Given the description of an element on the screen output the (x, y) to click on. 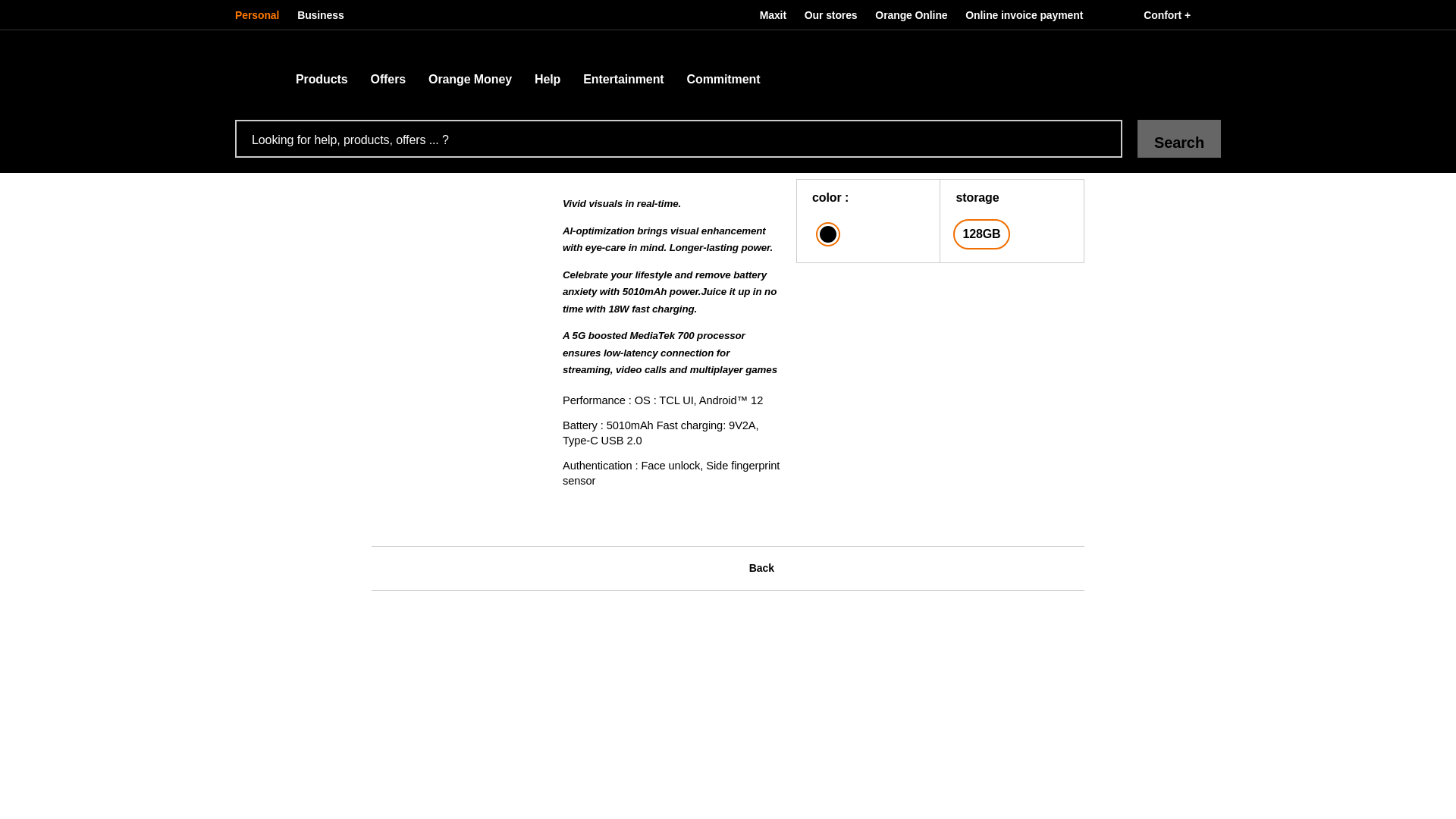
Orange Money (469, 68)
Business (319, 14)
Maxit (772, 14)
Personal (260, 14)
Our stores (830, 14)
Products (316, 68)
Online invoice payment (1024, 14)
Orange Online (911, 14)
